Given the description of an element on the screen output the (x, y) to click on. 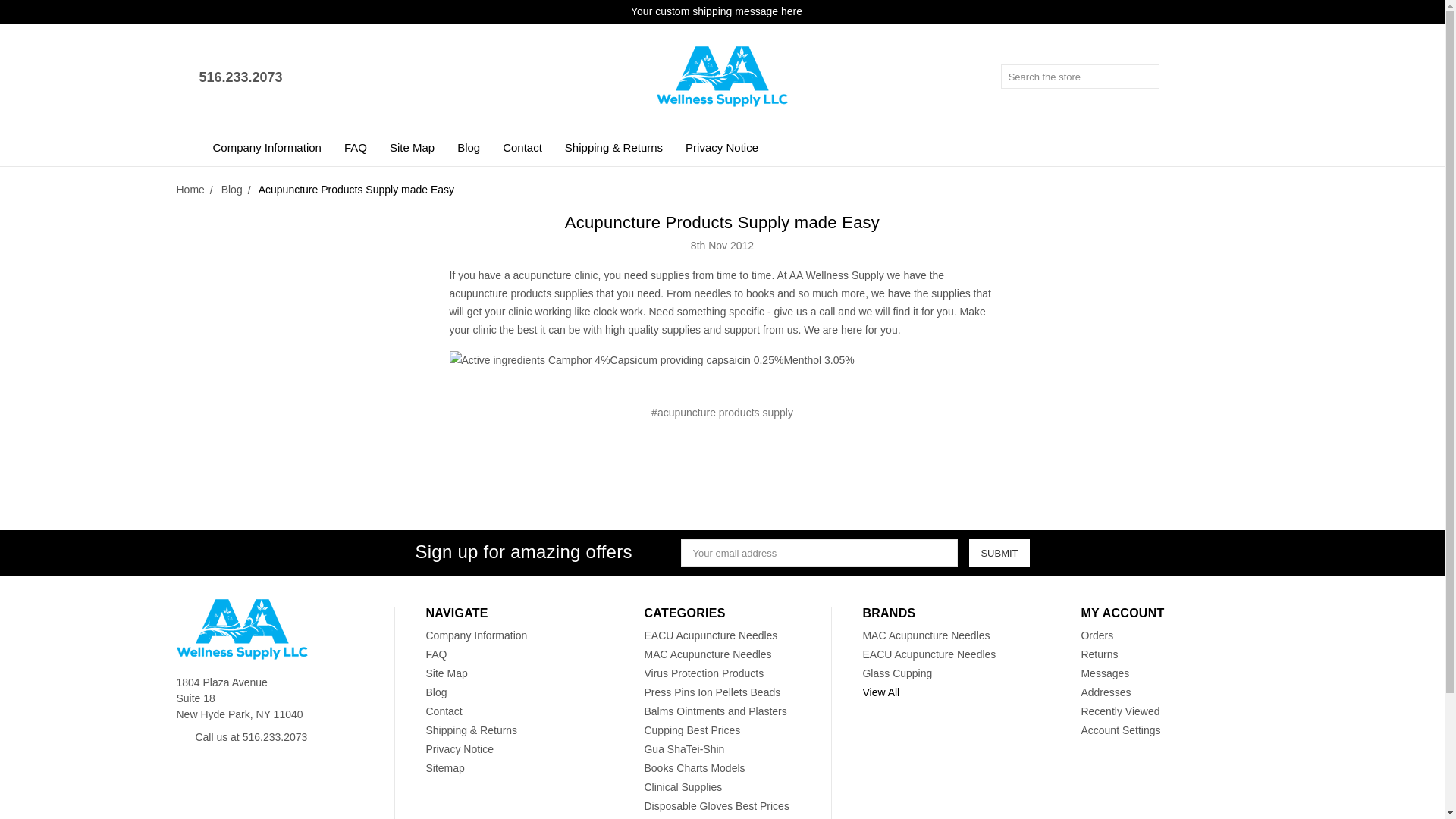
AA Wellness Supply LLC (721, 76)
Compare (1217, 76)
AA Wellness Supply LLC (241, 629)
Search (1147, 76)
Submit (999, 552)
Search (1147, 76)
